Given the description of an element on the screen output the (x, y) to click on. 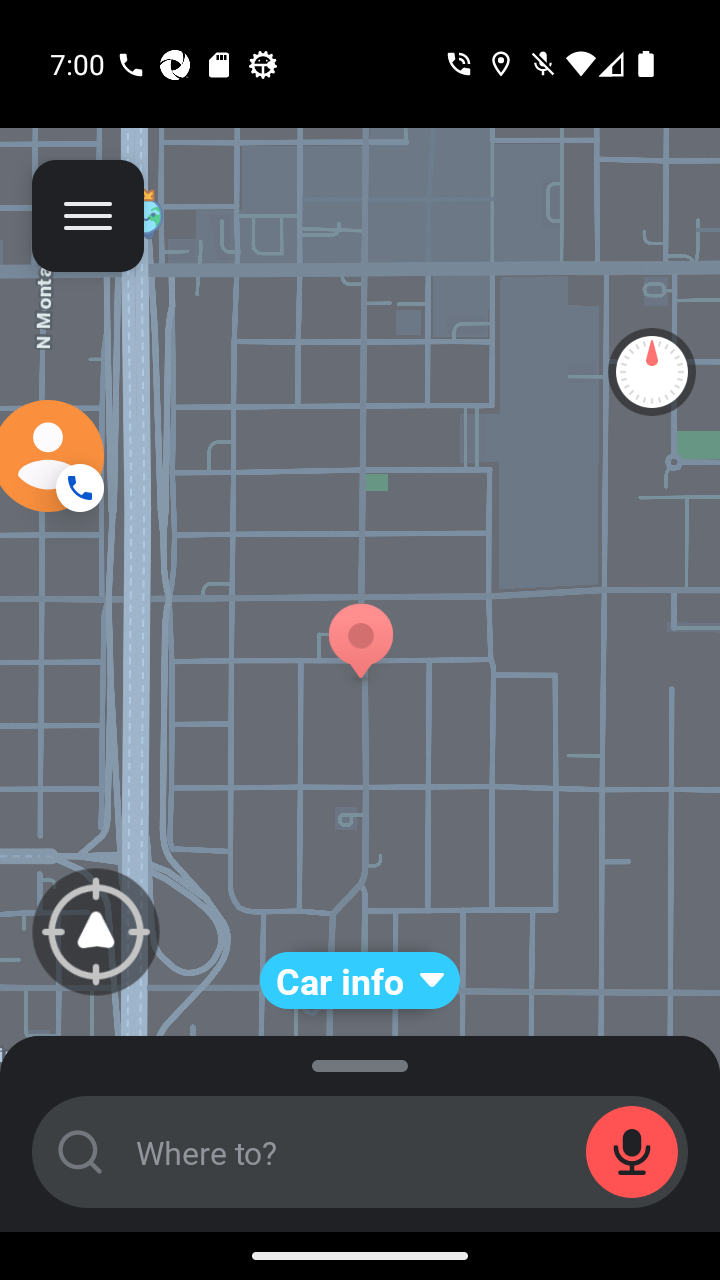
Car info (359, 980)
SUGGESTIONS_SHEET_DRAG_HANDLE (359, 1061)
START_STATE_SEARCH_FIELD Where to? (359, 1151)
